Given the description of an element on the screen output the (x, y) to click on. 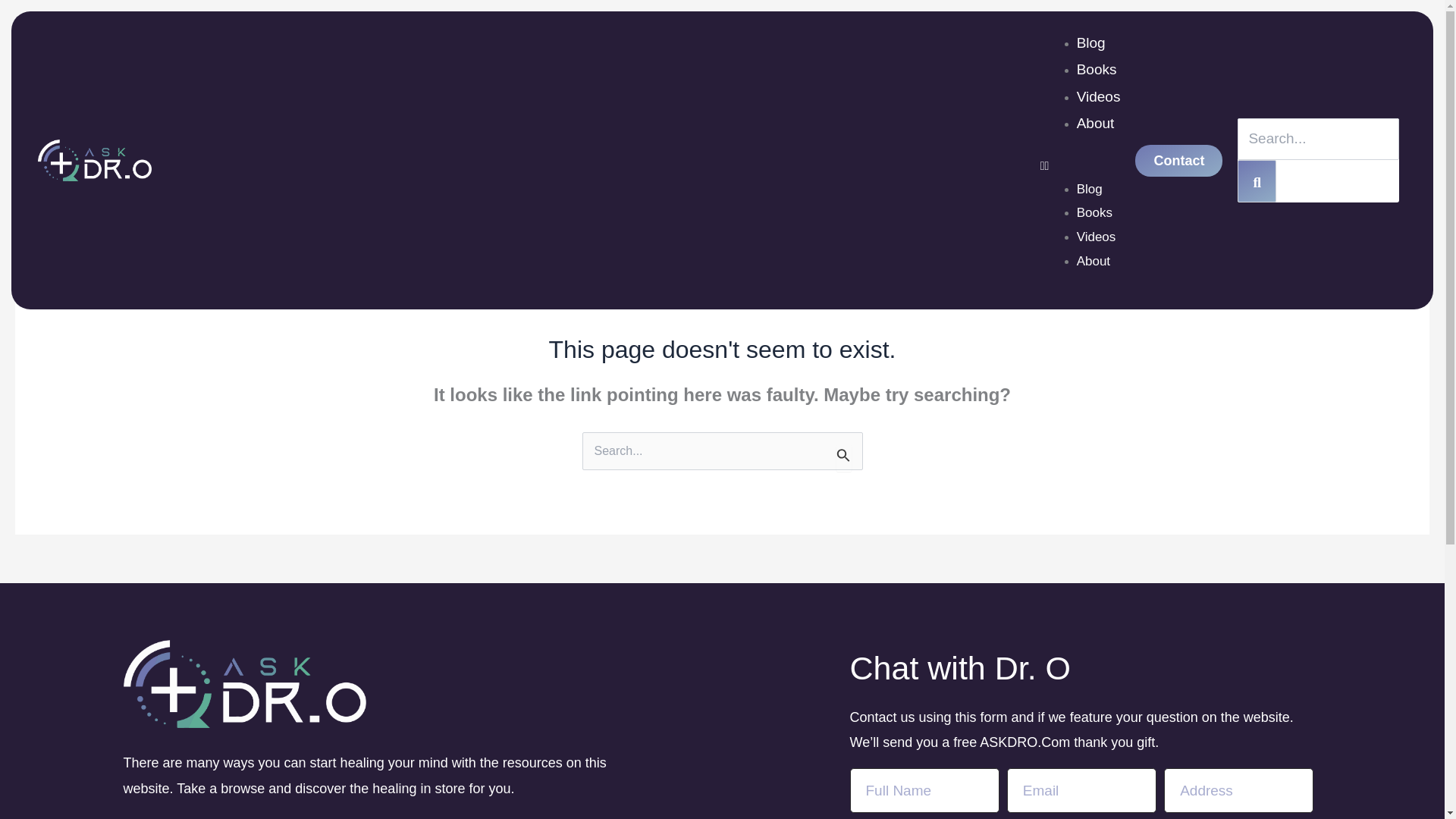
Blog (1091, 42)
Videos (1096, 237)
Contact (1179, 160)
Videos (1099, 96)
About (1096, 123)
About (1093, 260)
Books (1094, 212)
Blog (1089, 188)
Search (1256, 180)
Books (1096, 68)
